Given the description of an element on the screen output the (x, y) to click on. 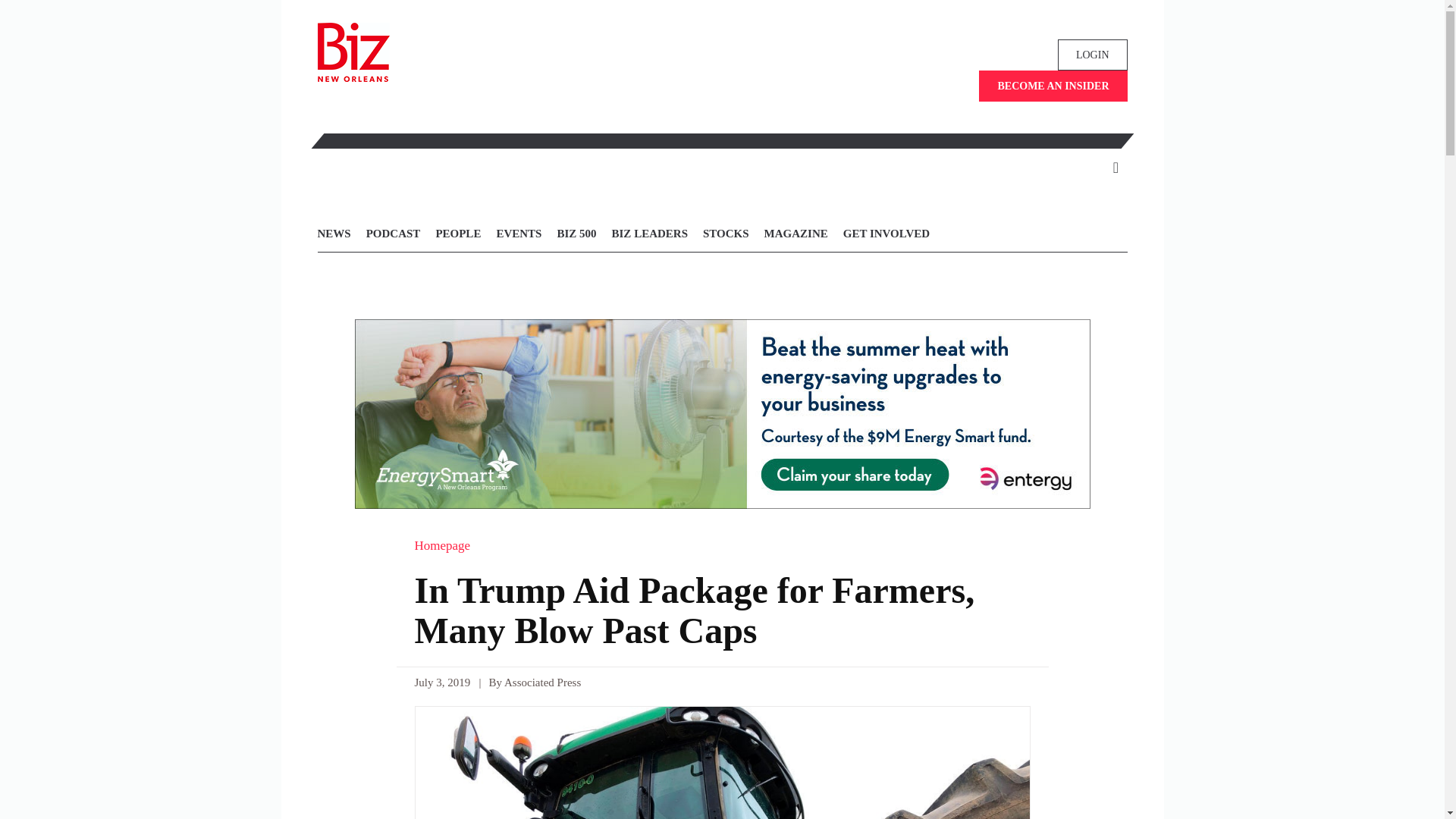
Posts by Associated Press (541, 682)
Become an Insider (1052, 85)
Login (1092, 54)
Bernard Peterson (721, 762)
